Given the description of an element on the screen output the (x, y) to click on. 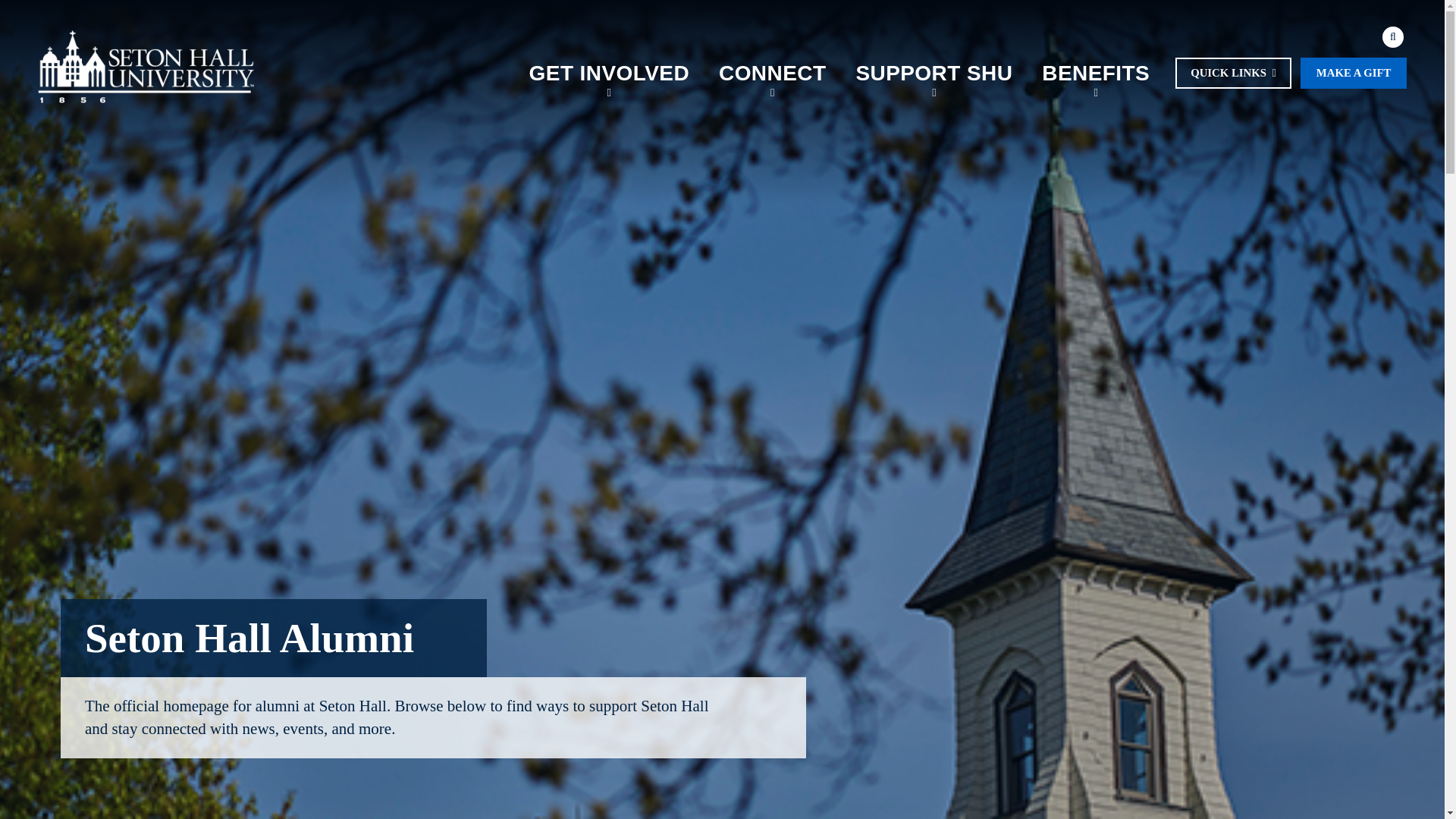
task menu (1290, 72)
QUICK LINKS (1233, 72)
GET INVOLVED (608, 73)
Open Site Search (1392, 36)
search icon (1392, 36)
BENEFITS (1096, 73)
Seton Hall Logo (145, 66)
SUPPORT SHU (934, 73)
CONNECT (773, 73)
